Given the description of an element on the screen output the (x, y) to click on. 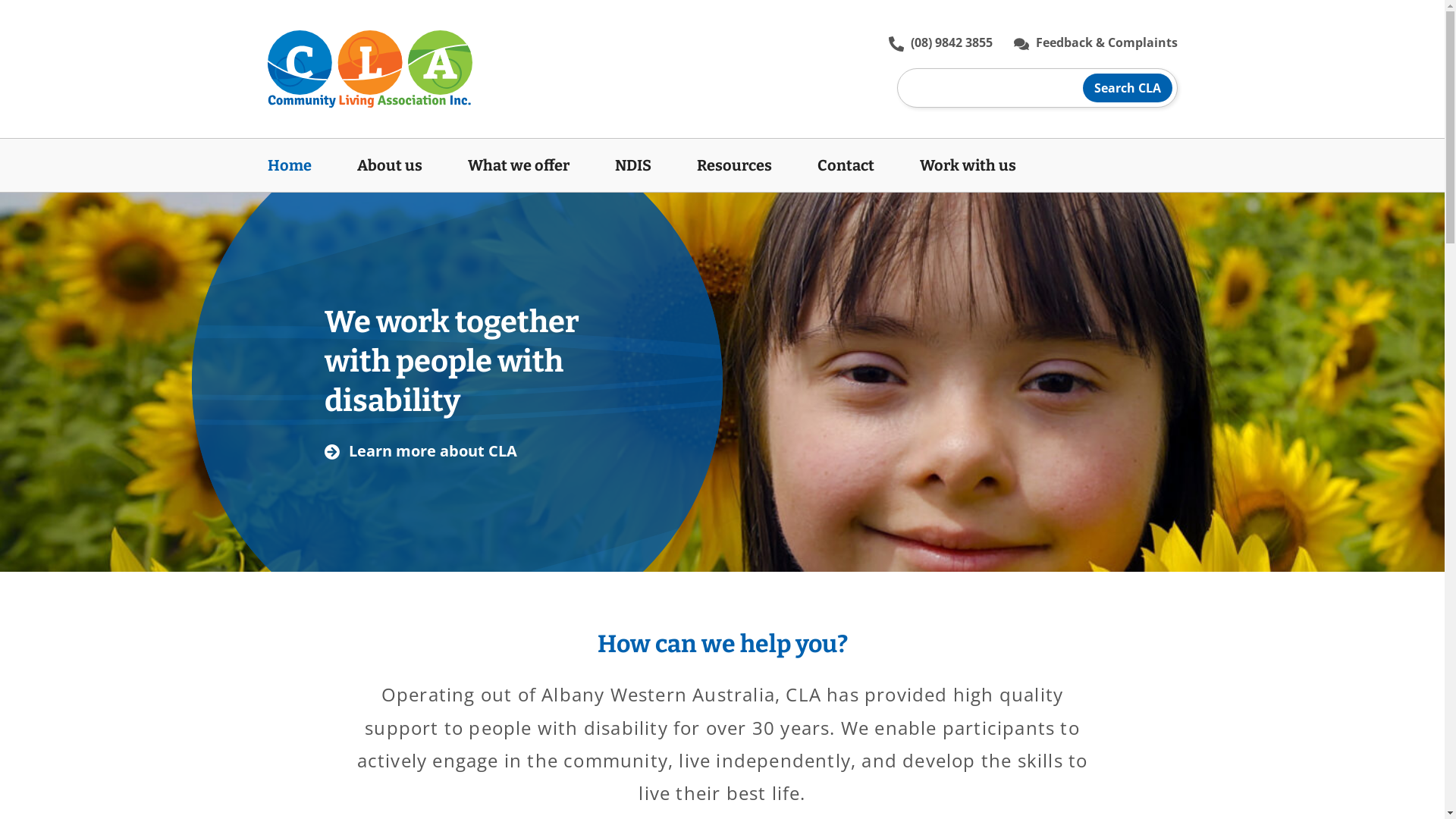
Learn more about CLA Element type: text (420, 451)
Resources Element type: text (733, 164)
Feedback & Complaints Element type: text (1094, 42)
(08) 9842 3855 Element type: text (940, 42)
NDIS Element type: text (632, 164)
About us Element type: text (388, 164)
Contact Element type: text (845, 164)
Search CLA Element type: text (1127, 87)
Search for: Element type: hover (1036, 87)
Work with us Element type: text (955, 164)
Community Living Association Inc. Element type: hover (368, 68)
Home Element type: text (299, 164)
What we offer Element type: text (517, 164)
